Given the description of an element on the screen output the (x, y) to click on. 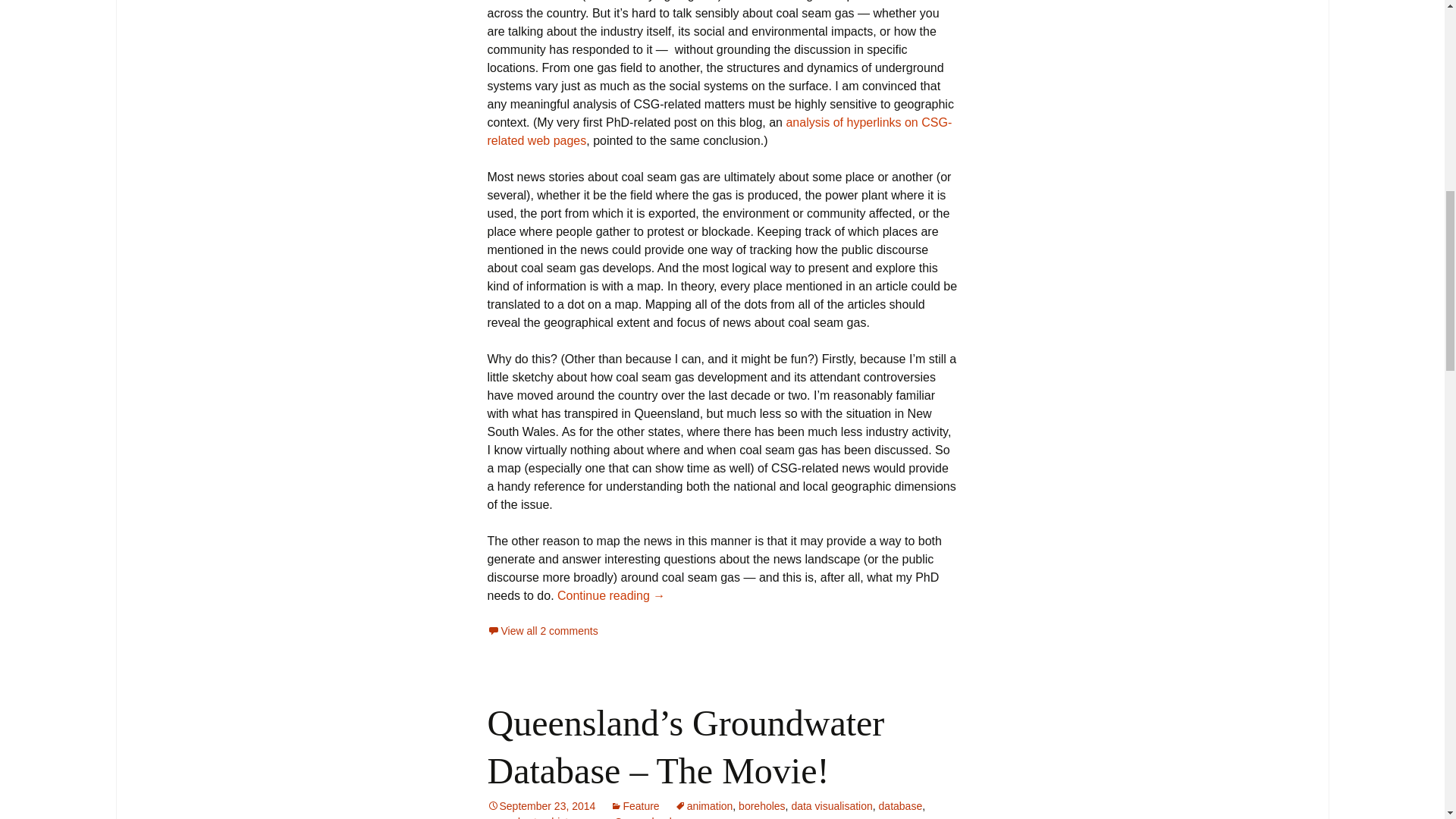
View all 2 comments (541, 630)
boreholes (762, 806)
database (901, 806)
groundwater (515, 817)
data visualisation (831, 806)
September 23, 2014 (540, 806)
Feature (634, 806)
Queensland (642, 817)
history (565, 817)
animation (704, 806)
analysis of hyperlinks on CSG-related web pages (719, 131)
map (598, 817)
